Given the description of an element on the screen output the (x, y) to click on. 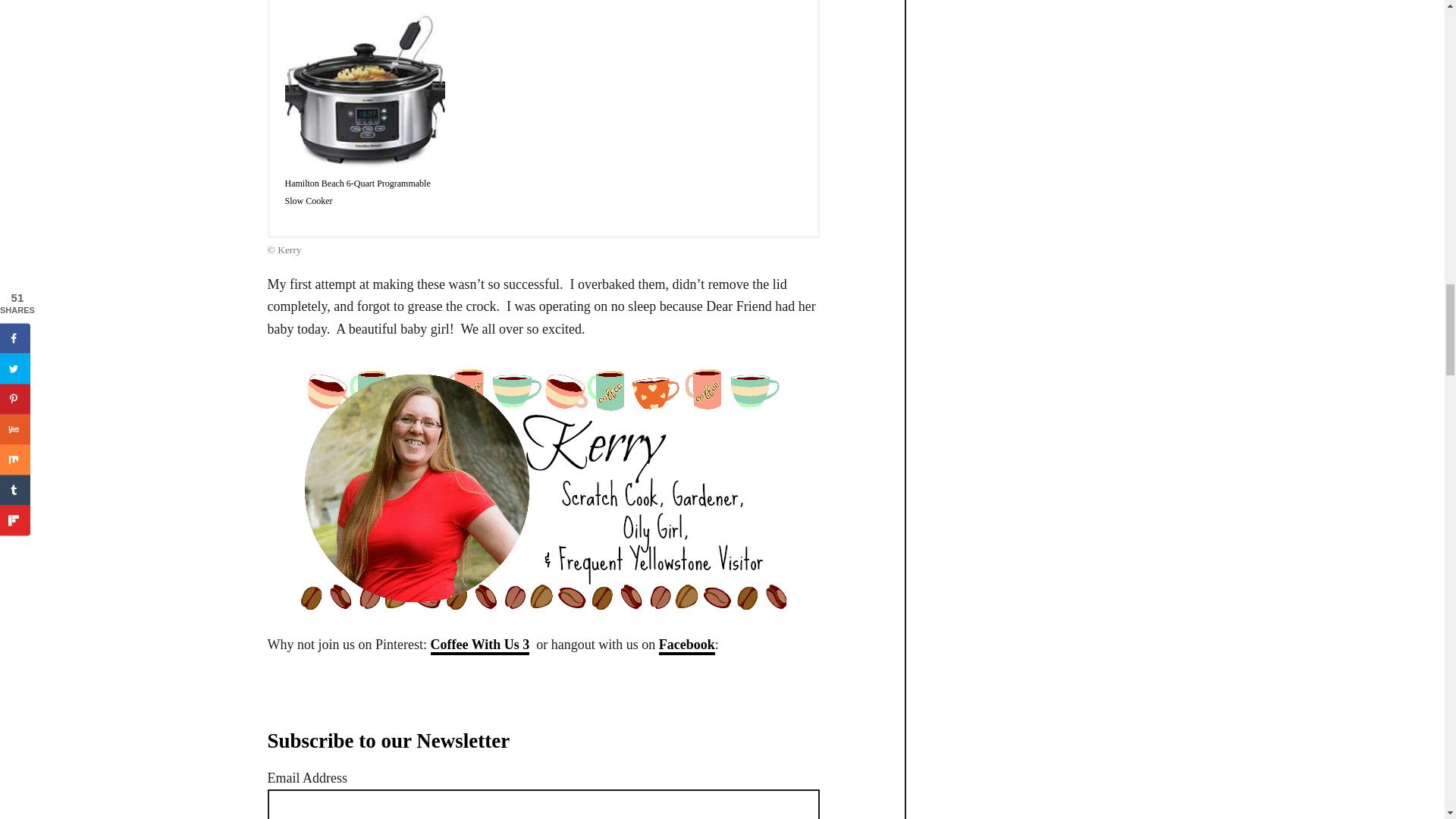
Coffee With Us 3 (479, 646)
Facebook (686, 646)
